Given the description of an element on the screen output the (x, y) to click on. 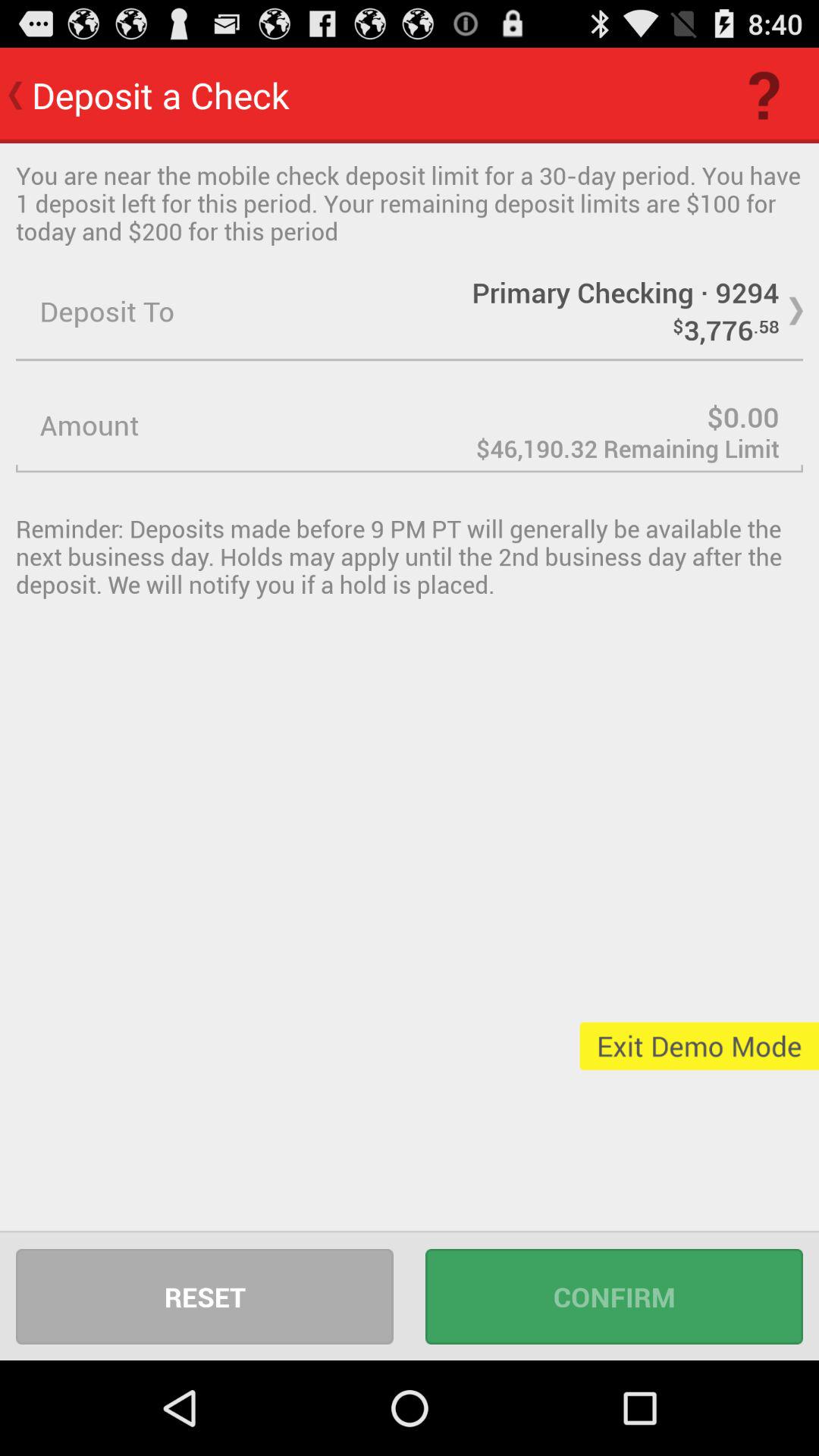
choose icon next to confirm icon (204, 1296)
